Given the description of an element on the screen output the (x, y) to click on. 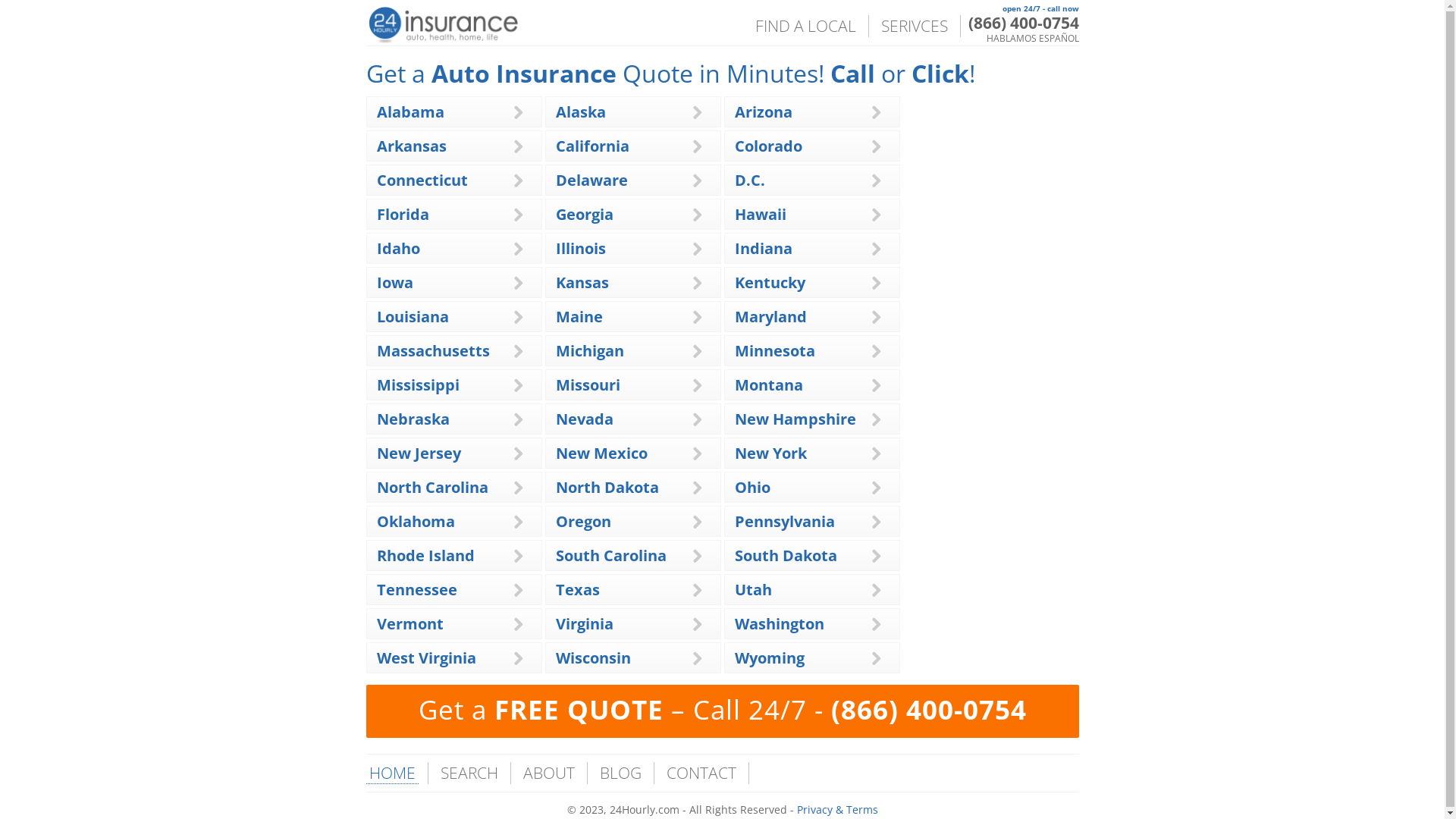
Alabama Element type: text (409, 111)
Minnesota Element type: text (774, 350)
Mississippi Element type: text (417, 384)
Colorado Element type: text (767, 145)
Texas Element type: text (577, 589)
Illinois Element type: text (580, 248)
New Hampshire Element type: text (794, 418)
Vermont Element type: text (409, 623)
Oklahoma Element type: text (415, 521)
New York Element type: text (770, 452)
Hawaii Element type: text (759, 213)
Wyoming Element type: text (768, 657)
HOME Element type: text (391, 773)
Arkansas Element type: text (410, 145)
FIND A LOCAL Element type: text (805, 26)
Michigan Element type: text (589, 350)
New Mexico Element type: text (600, 452)
Arizona Element type: text (762, 111)
Rhode Island Element type: text (424, 555)
New Jersey Element type: text (418, 452)
South Carolina Element type: text (610, 555)
Nevada Element type: text (583, 418)
Indiana Element type: text (762, 248)
Oregon Element type: text (582, 521)
Washington Element type: text (778, 623)
California Element type: text (591, 145)
Pennsylvania Element type: text (784, 521)
North Dakota Element type: text (606, 486)
Kansas Element type: text (581, 282)
Nebraska Element type: text (412, 418)
Alaska Element type: text (580, 111)
Kentucky Element type: text (769, 282)
Maryland Element type: text (770, 316)
BLOG Element type: text (619, 773)
Georgia Element type: text (583, 213)
Delaware Element type: text (591, 179)
ABOUT Element type: text (548, 773)
Florida Element type: text (402, 213)
SERIVCES Element type: text (914, 26)
South Dakota Element type: text (785, 555)
D.C. Element type: text (749, 179)
Utah Element type: text (752, 589)
Idaho Element type: text (397, 248)
CONTACT Element type: text (700, 773)
Massachusetts Element type: text (432, 350)
Iowa Element type: text (394, 282)
Louisiana Element type: text (412, 316)
Connecticut Element type: text (421, 179)
Montana Element type: text (768, 384)
West Virginia Element type: text (425, 657)
Maine Element type: text (578, 316)
Ohio Element type: text (751, 486)
SEARCH Element type: text (468, 773)
Tennessee Element type: text (416, 589)
Missouri Element type: text (587, 384)
Wisconsin Element type: text (592, 657)
Privacy & Terms Element type: text (836, 809)
Virginia Element type: text (583, 623)
North Carolina Element type: text (431, 486)
